Given the description of an element on the screen output the (x, y) to click on. 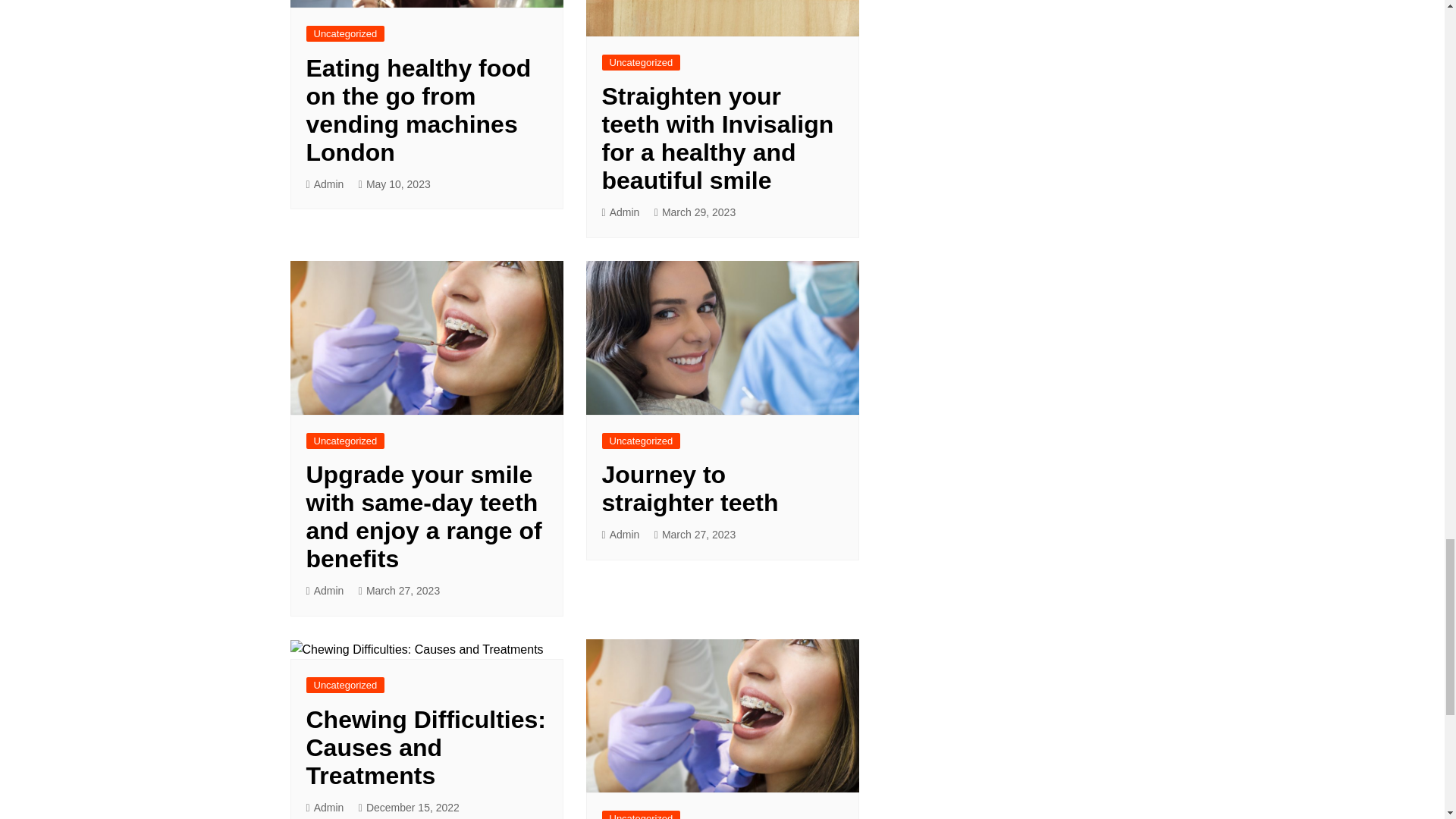
March 29, 2023 (694, 212)
Admin (324, 184)
Eating healthy food on the go from vending machines London (418, 110)
March 27, 2023 (398, 590)
Uncategorized (345, 440)
May 10, 2023 (394, 184)
Uncategorized (641, 440)
Uncategorized (345, 33)
Admin (324, 590)
Admin (621, 212)
Uncategorized (641, 62)
Journey to straighter teeth (690, 488)
